Given the description of an element on the screen output the (x, y) to click on. 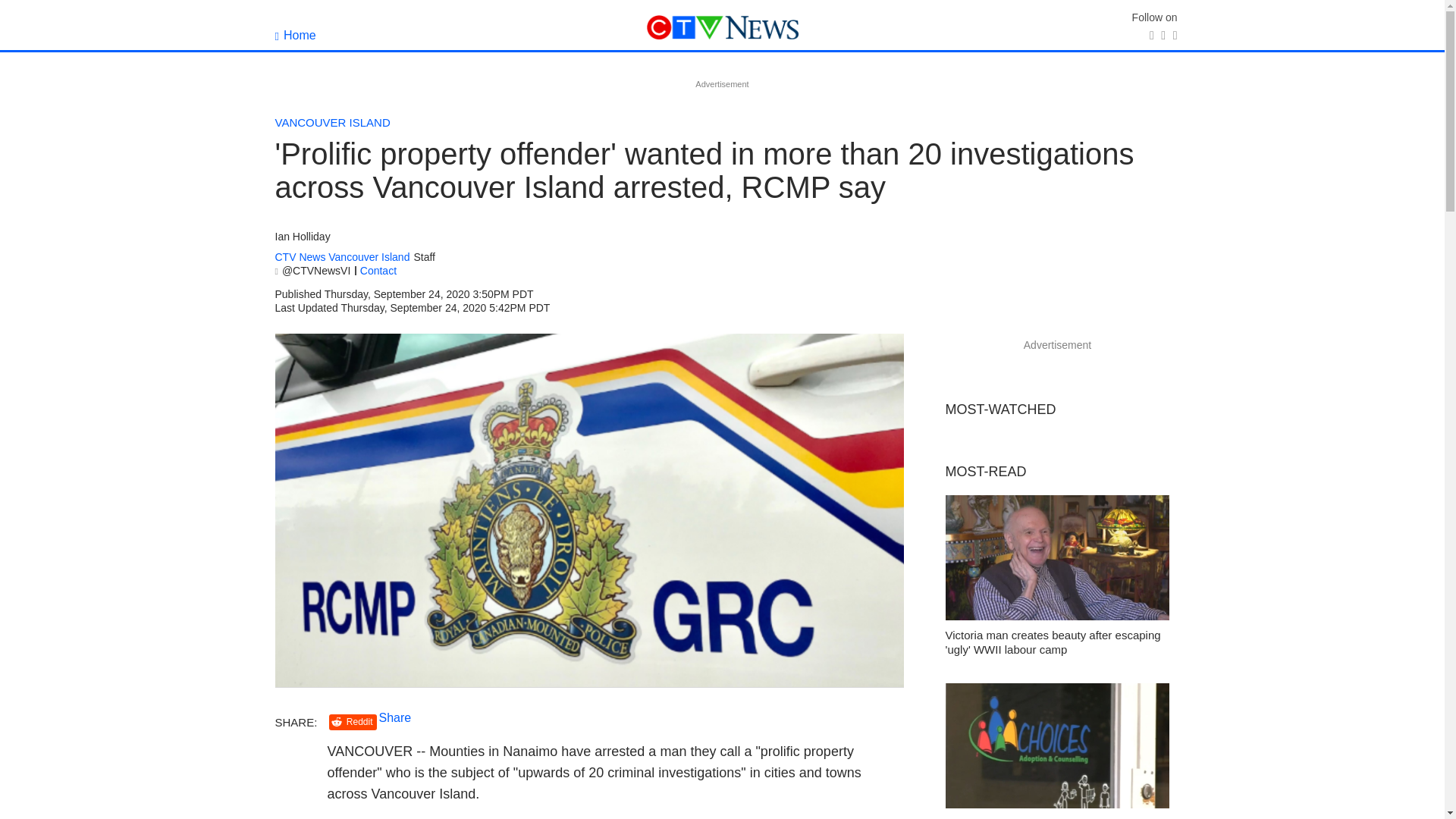
Share (395, 717)
Contact (377, 270)
CTV News Vancouver Island (342, 256)
VANCOUVER ISLAND (332, 122)
Home (295, 34)
Reddit (353, 722)
